Given the description of an element on the screen output the (x, y) to click on. 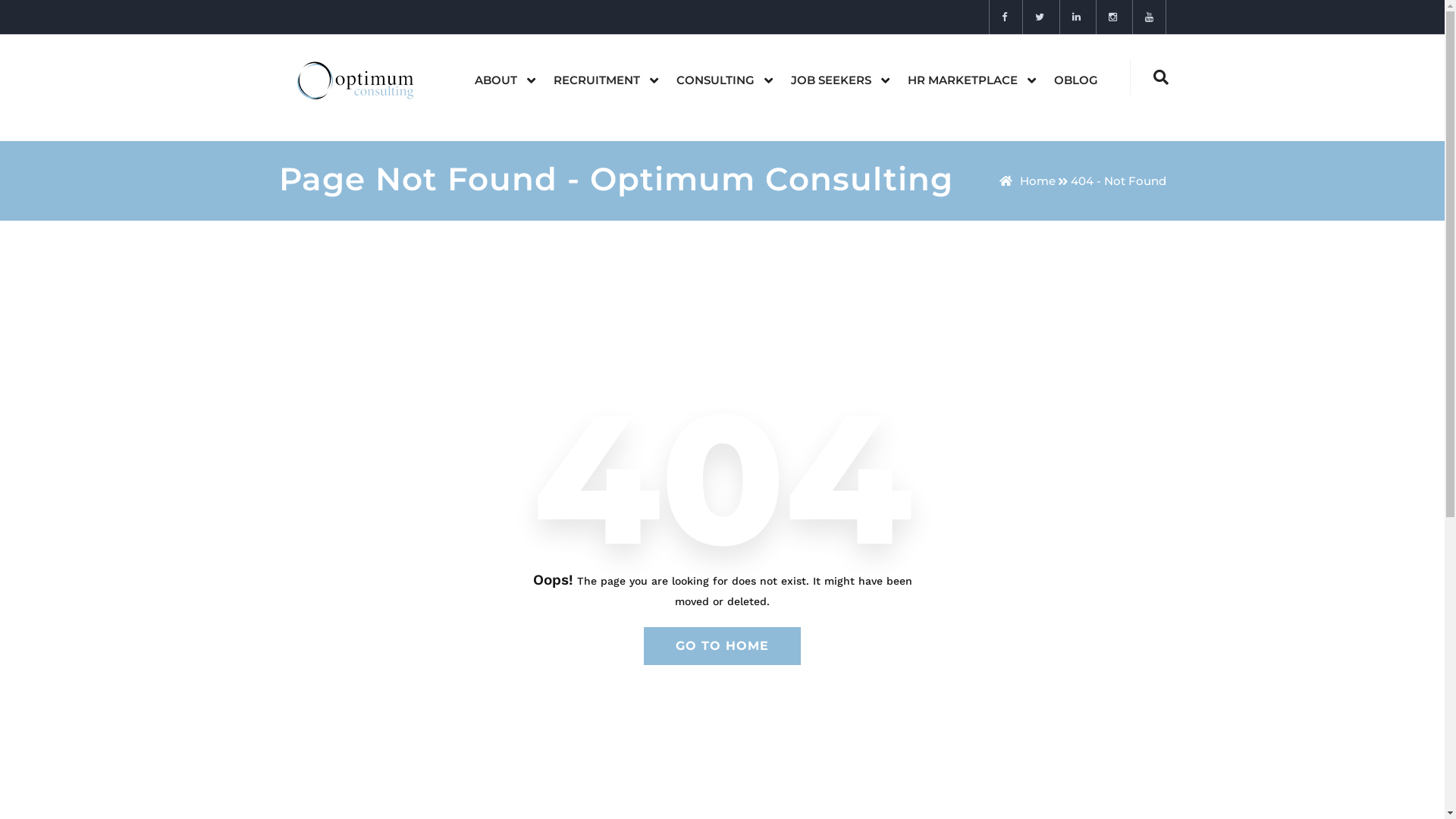
OBLOG Element type: text (1075, 79)
ABOUT Element type: text (495, 79)
RECRUITMENT Element type: text (596, 79)
CONSULTING Element type: text (715, 79)
Home Element type: text (1027, 179)
Bremond Element type: hover (360, 79)
GO TO HOME Element type: text (721, 646)
JOB SEEKERS Element type: text (829, 79)
HR MARKETPLACE Element type: text (961, 79)
